Given the description of an element on the screen output the (x, y) to click on. 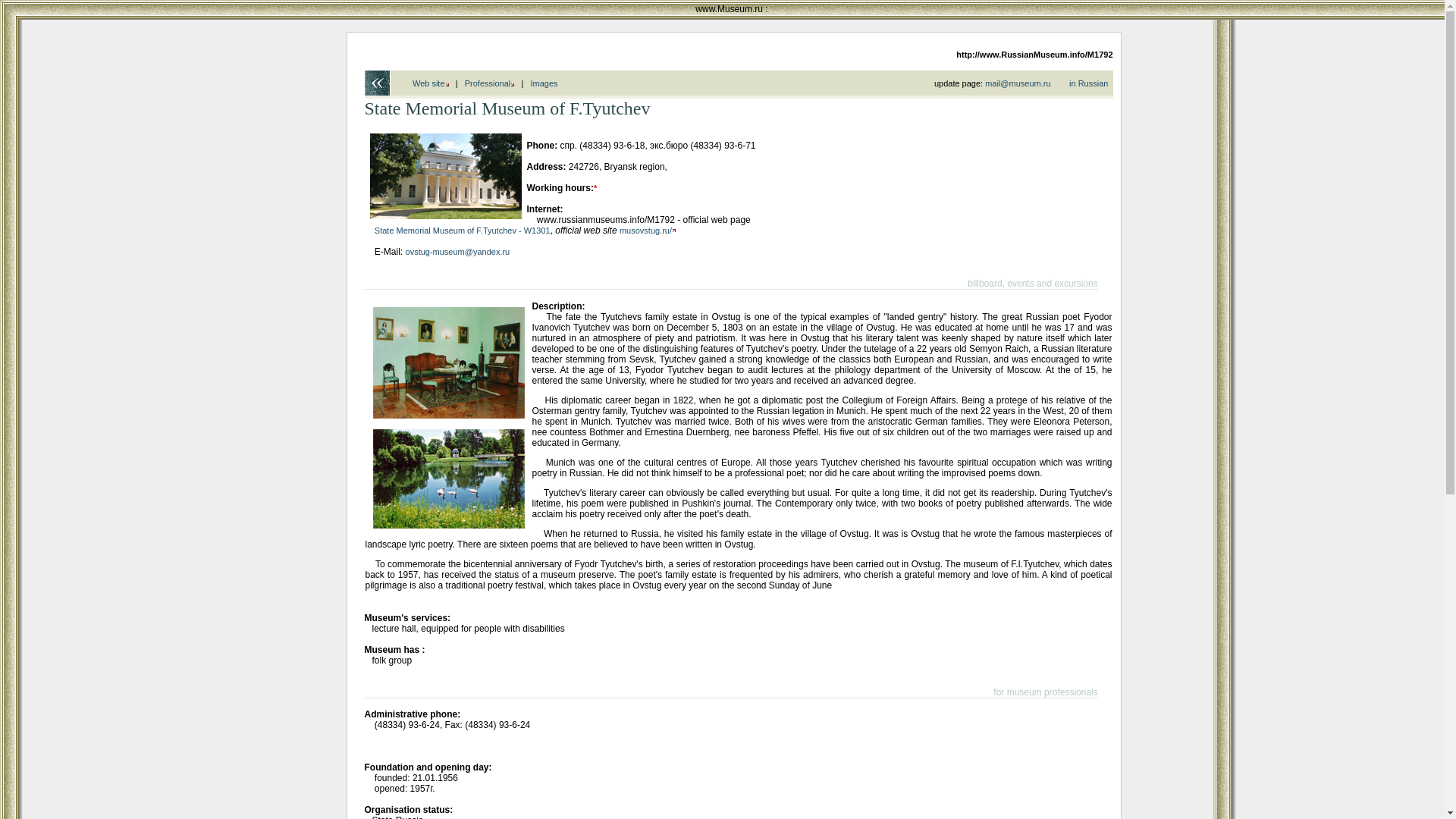
Web site (430, 82)
State Memorial Museum of F.Tyutchev - W1301 (462, 230)
Professional (489, 82)
in Russian (1088, 82)
Images (544, 82)
